Given the description of an element on the screen output the (x, y) to click on. 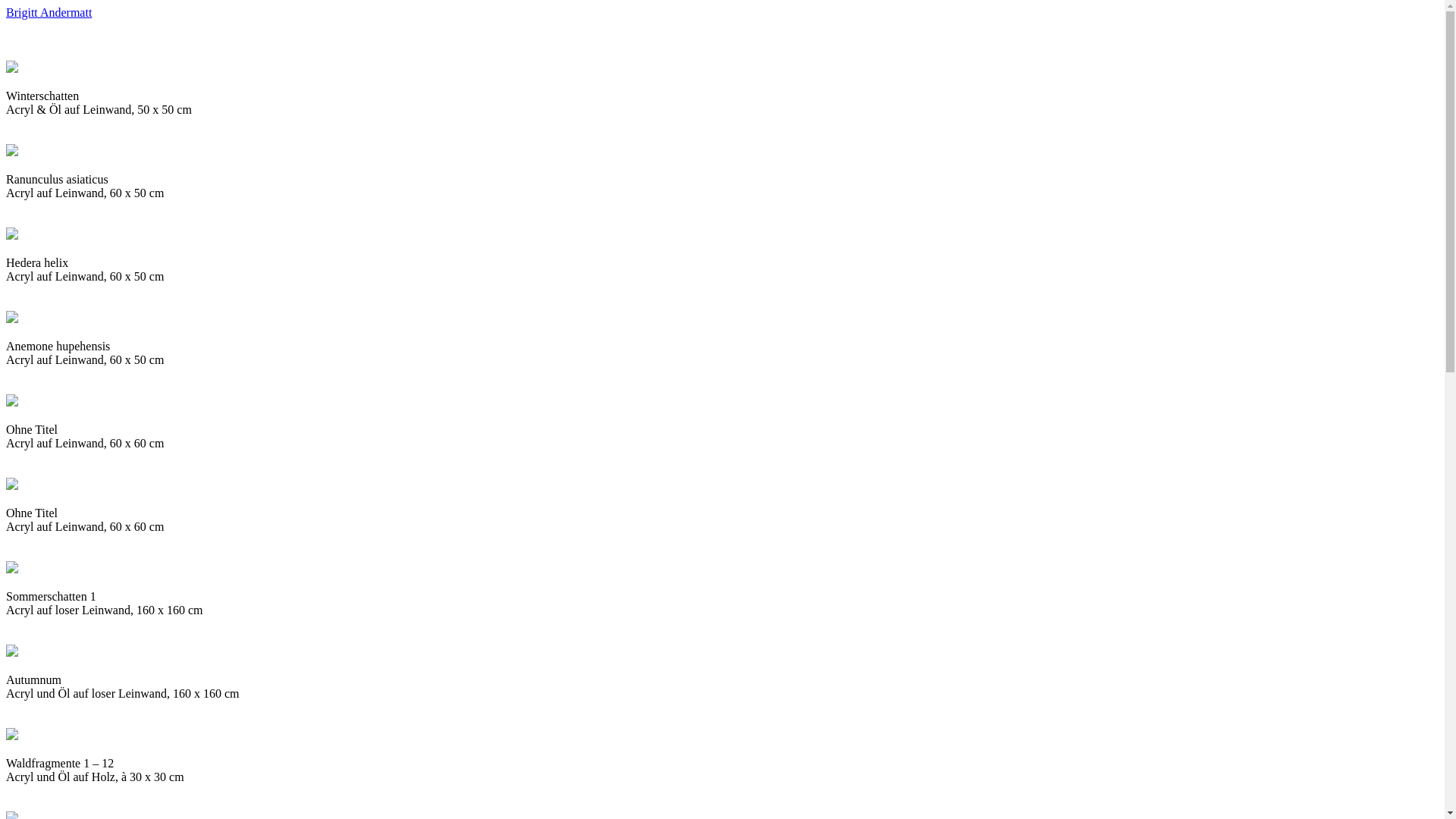
Brigitt Andermatt Element type: text (48, 12)
